Given the description of an element on the screen output the (x, y) to click on. 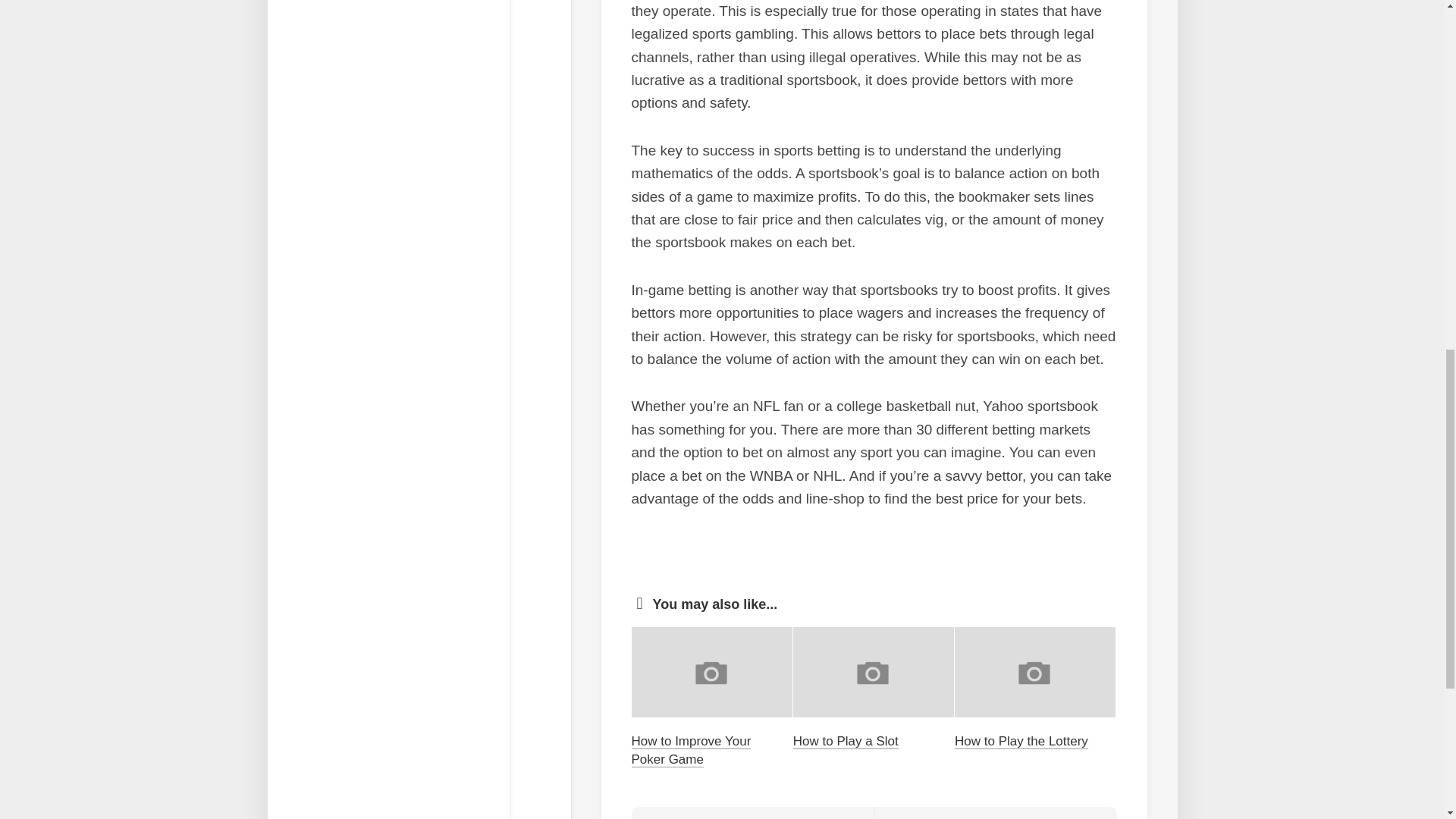
How to Play a Slot (751, 812)
How to Improve Your Poker Game (845, 740)
How to Play the Lottery (690, 749)
